Given the description of an element on the screen output the (x, y) to click on. 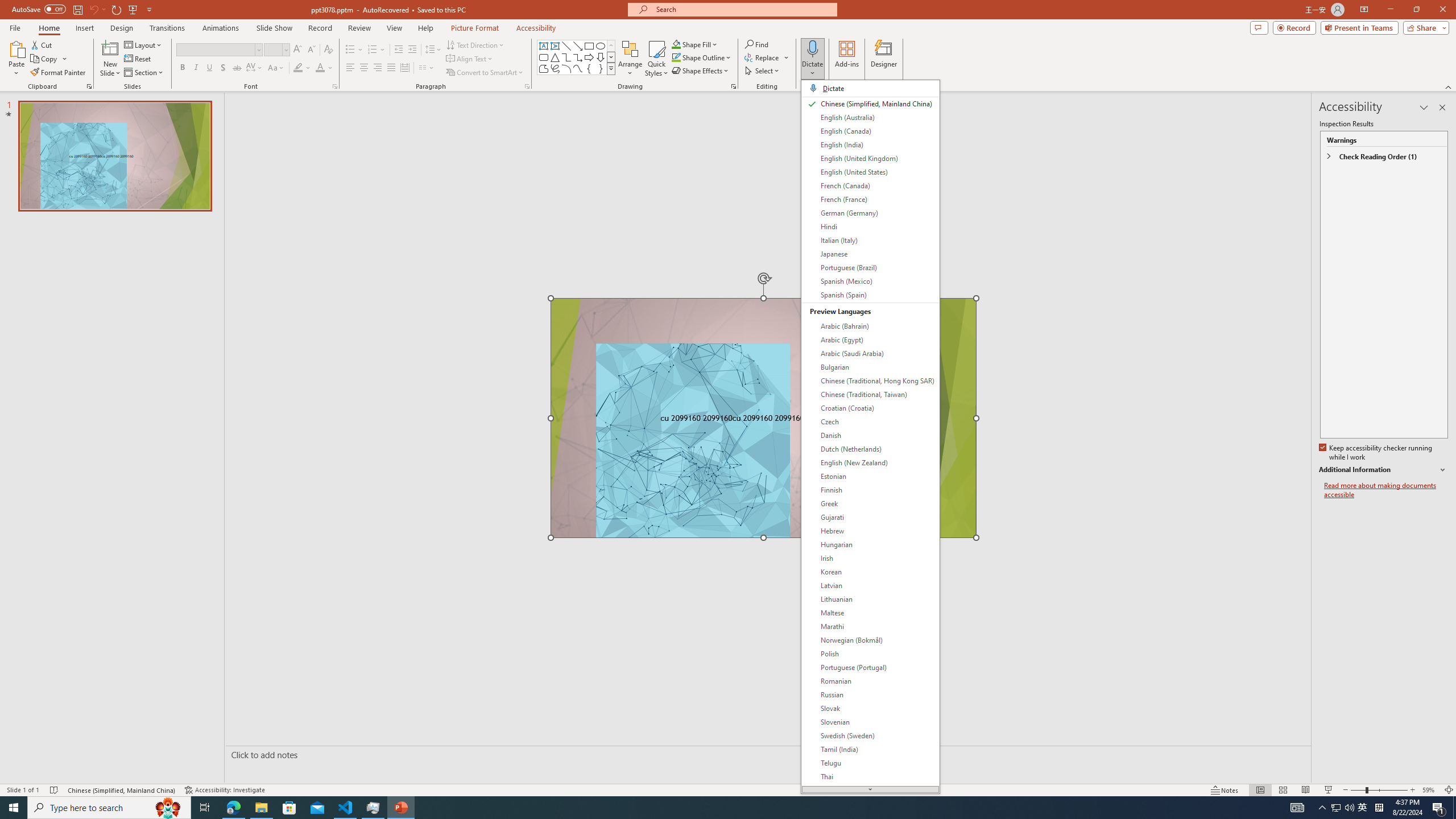
File Explorer - 1 running window (261, 807)
